Given the description of an element on the screen output the (x, y) to click on. 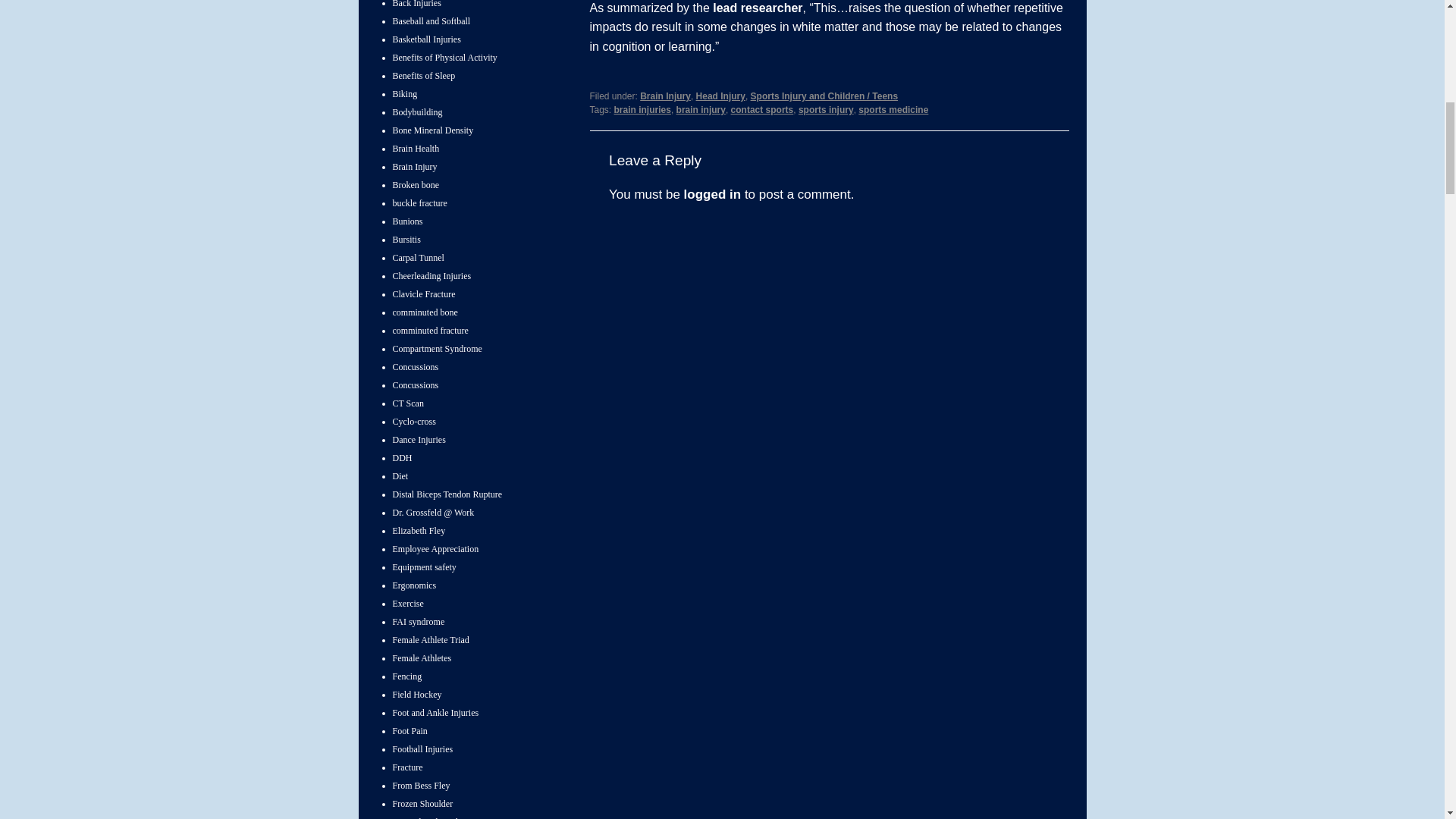
Repetitive impact may cause brain injury (757, 7)
